Given the description of an element on the screen output the (x, y) to click on. 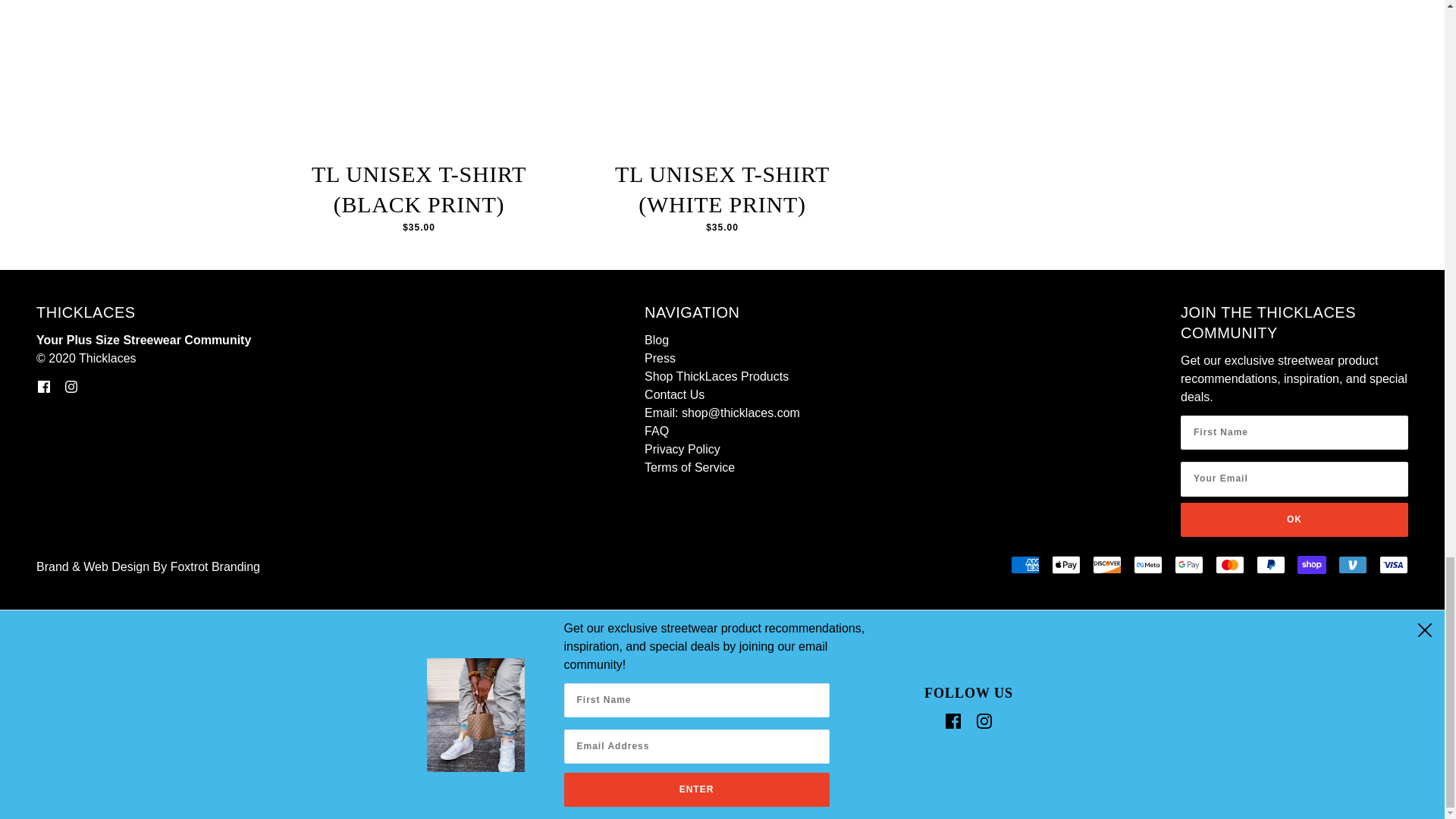
PayPal (1270, 565)
Google Pay (1189, 565)
Mastercard (1229, 565)
Visa (1392, 565)
Ok (1293, 519)
Apple Pay (1065, 565)
Venmo (1352, 565)
Shop Pay (1311, 565)
American Express (1024, 565)
Discover (1107, 565)
Meta Pay (1147, 565)
